Given the description of an element on the screen output the (x, y) to click on. 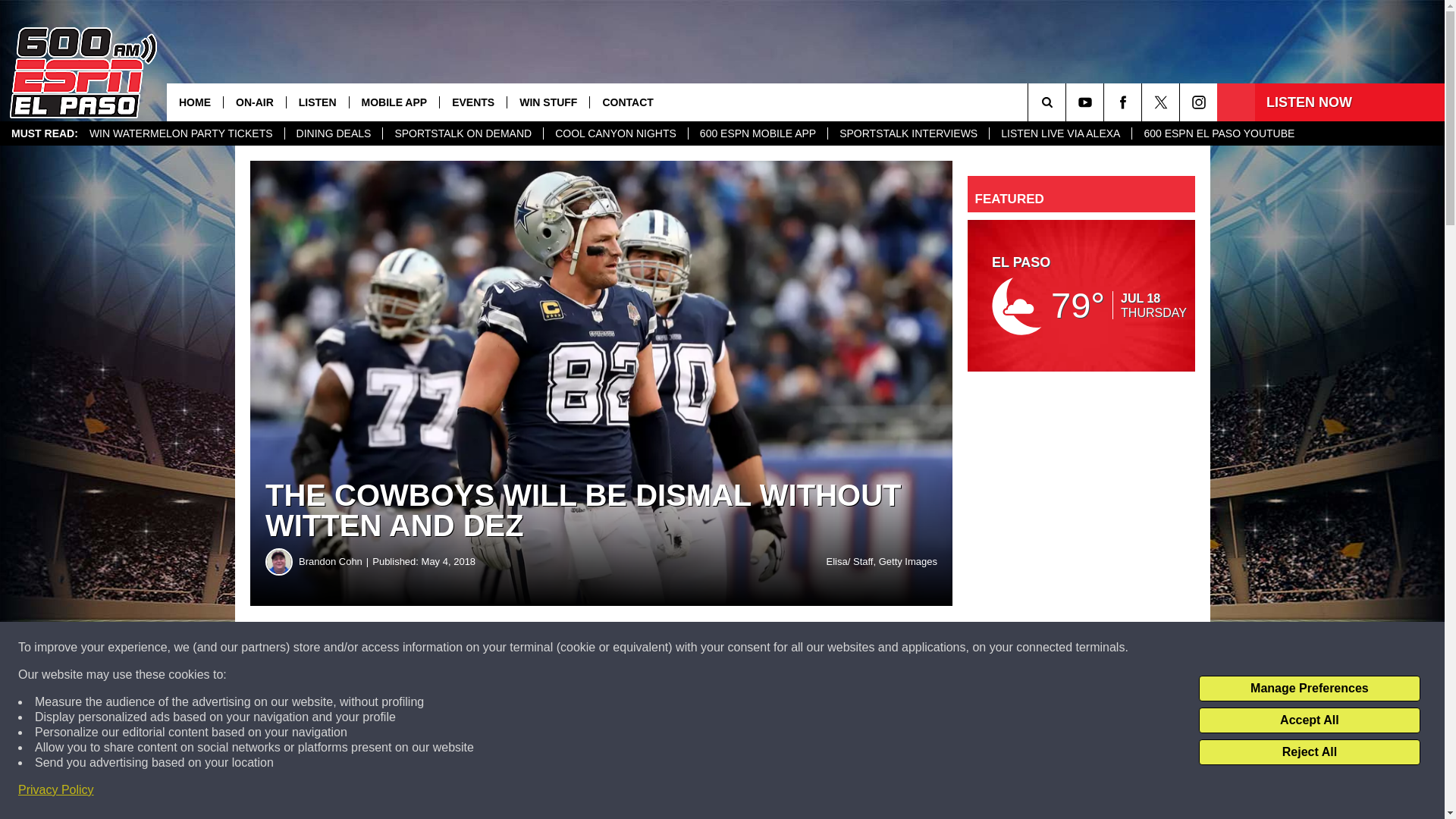
ON-AIR (253, 102)
HOME (194, 102)
MOBILE APP (394, 102)
SEARCH (1068, 102)
Share on Facebook (460, 647)
LISTEN (317, 102)
Privacy Policy (55, 789)
EVENTS (472, 102)
LISTEN LIVE VIA ALEXA (1059, 133)
Reject All (1309, 751)
SPORTSTALK ON DEMAND (462, 133)
SPORTSTALK INTERVIEWS (907, 133)
Manage Preferences (1309, 688)
Share on Twitter (741, 647)
WIN STUFF (547, 102)
